Given the description of an element on the screen output the (x, y) to click on. 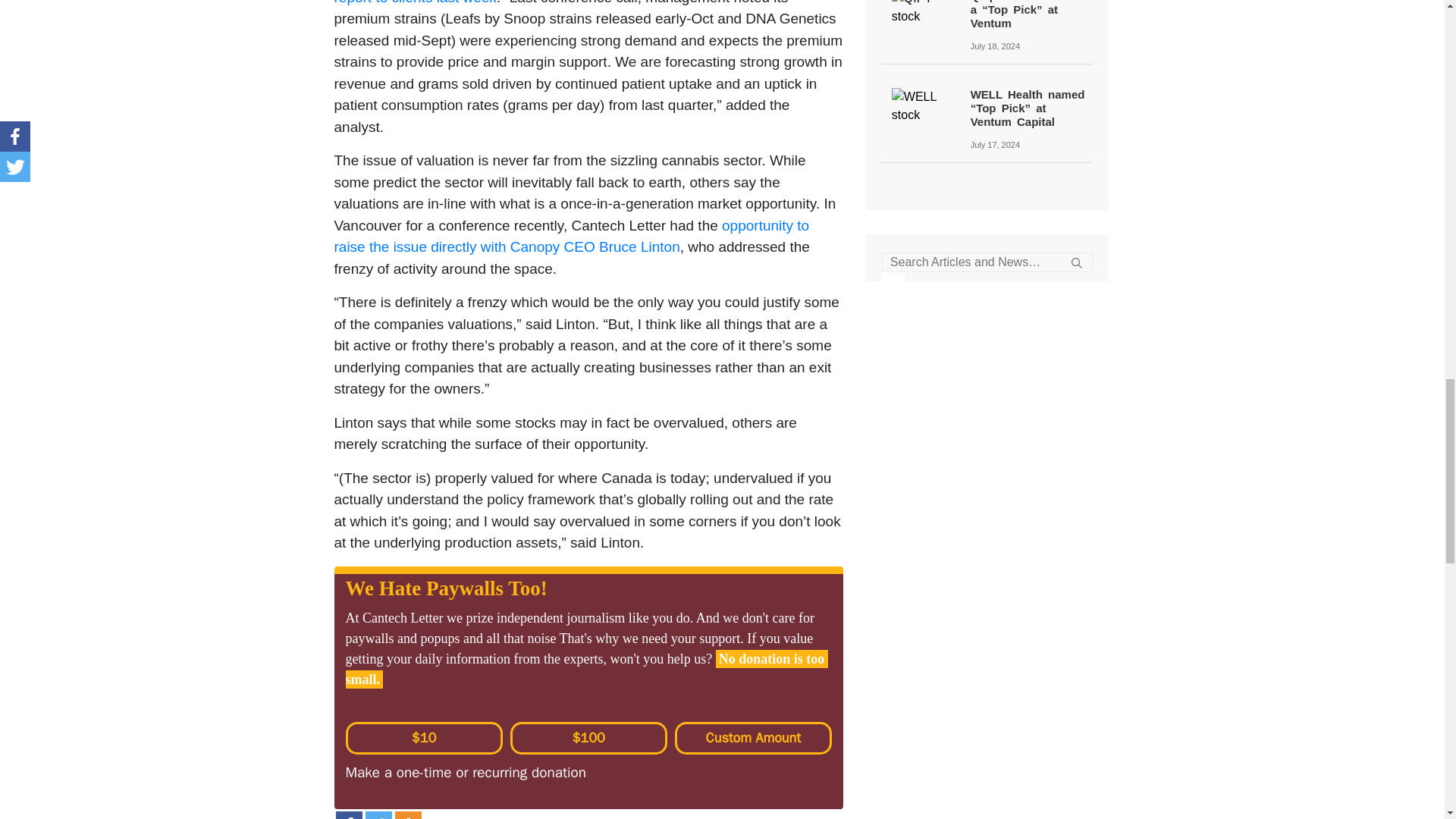
Twitter (378, 815)
Facebook (347, 815)
More (407, 815)
